Given the description of an element on the screen output the (x, y) to click on. 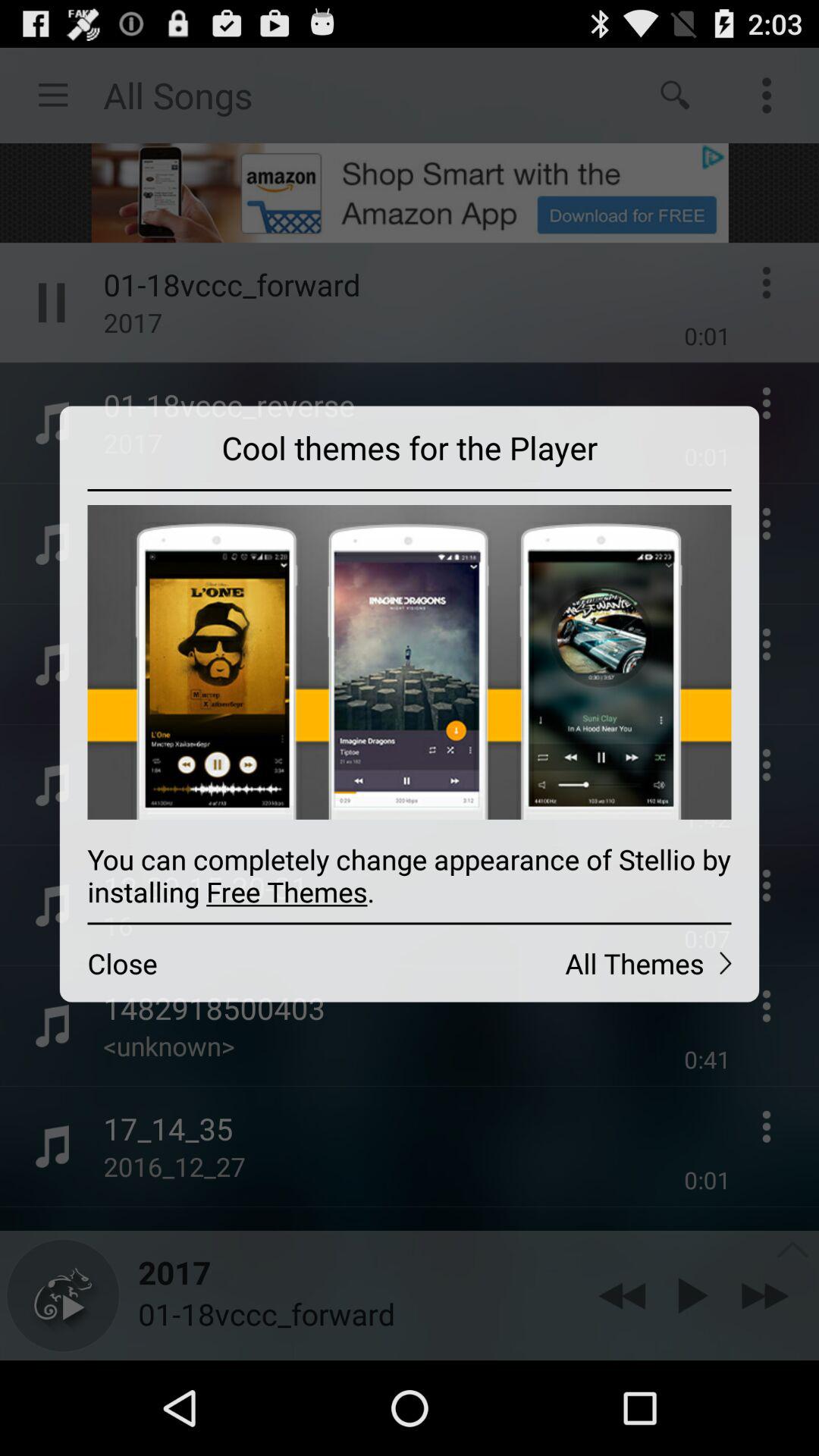
launch the close (234, 963)
